Given the description of an element on the screen output the (x, y) to click on. 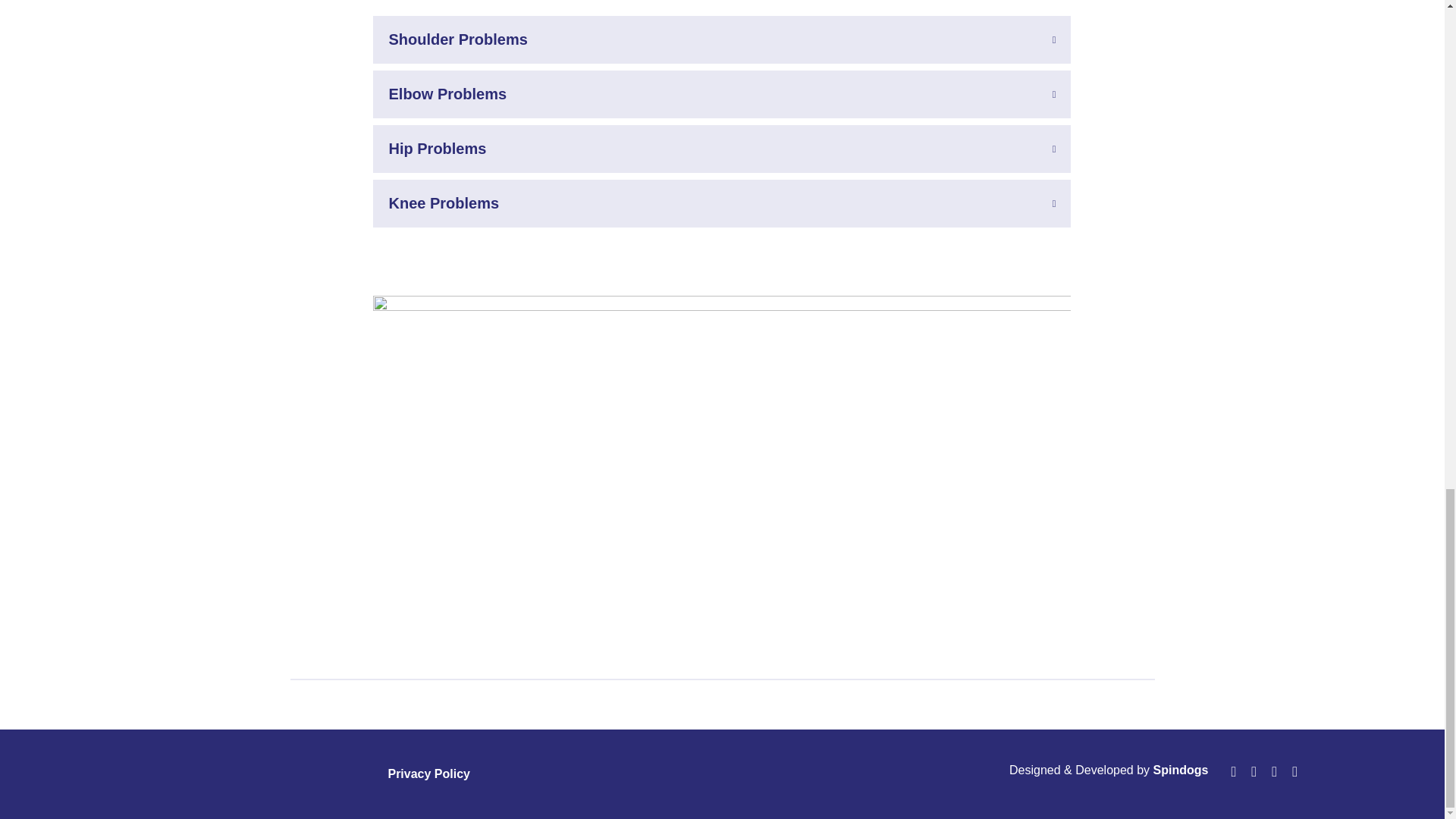
Hip Problems (721, 148)
Knee Problems (721, 203)
Elbow Problems (721, 93)
Shoulder Problems (721, 39)
